Given the description of an element on the screen output the (x, y) to click on. 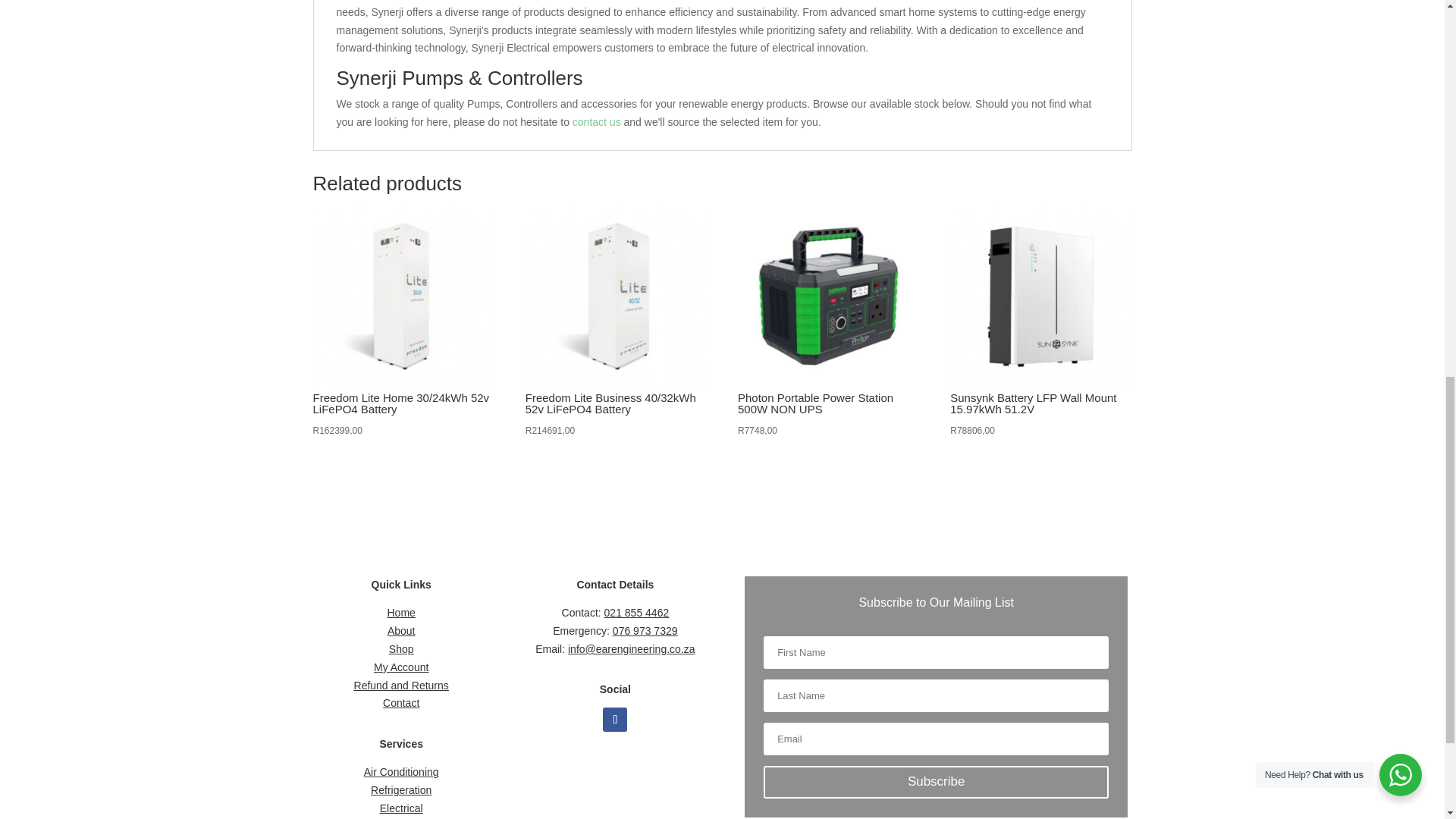
contact us (596, 121)
Refund and Returns (400, 685)
Shop (400, 648)
Home (400, 612)
My Account (401, 666)
Contact (400, 702)
Contact Herholdt's Group (596, 121)
About (400, 630)
